Given the description of an element on the screen output the (x, y) to click on. 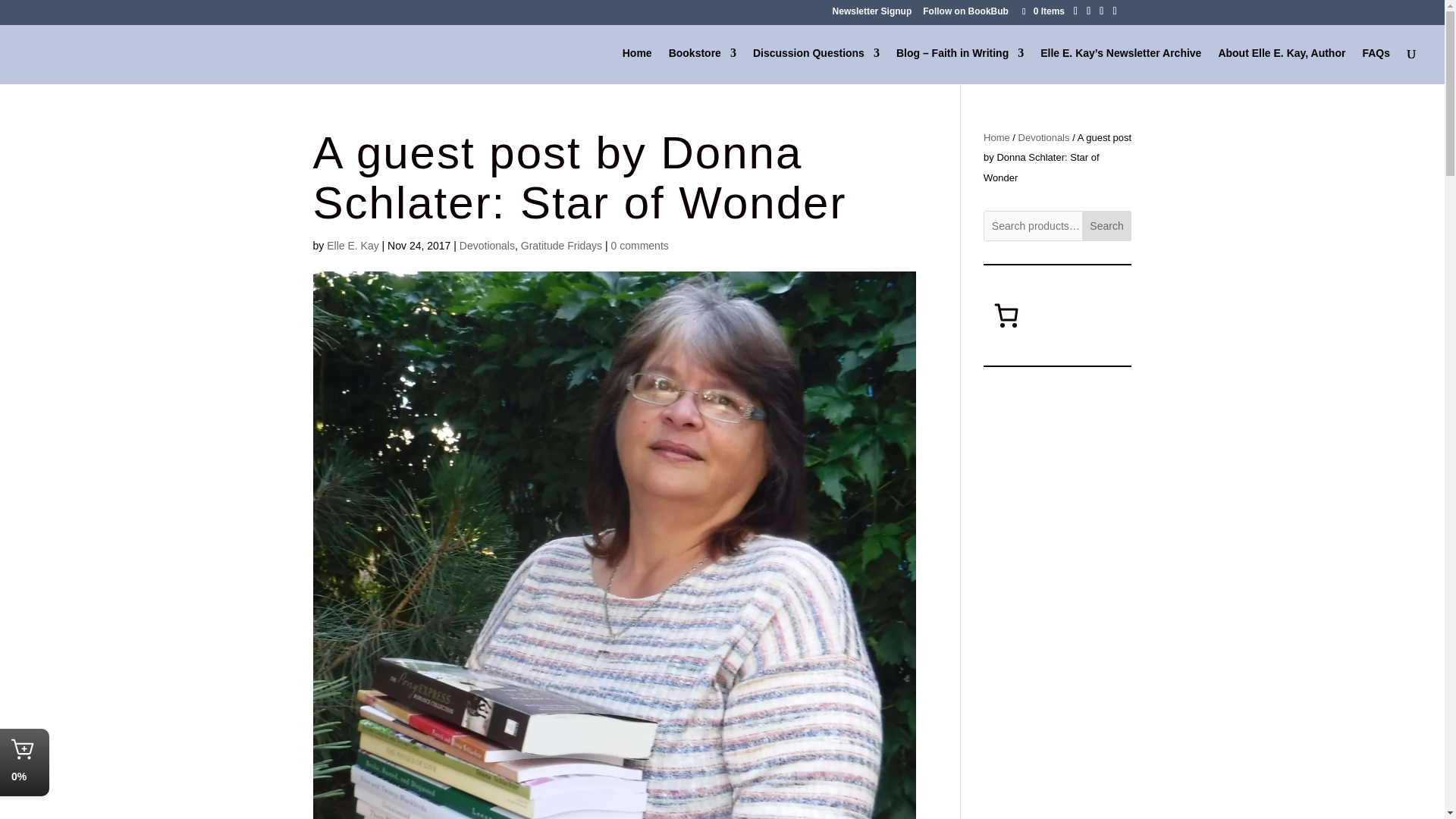
Bookstore (702, 65)
Follow on BookBub (966, 14)
Elle E. Kay (352, 245)
0 Items (1042, 10)
Posts by Elle E. Kay (352, 245)
Discussion Questions (815, 65)
0 comments (639, 245)
Devotionals (487, 245)
About Elle E. Kay, Author (1281, 65)
Gratitude Fridays (561, 245)
